Given the description of an element on the screen output the (x, y) to click on. 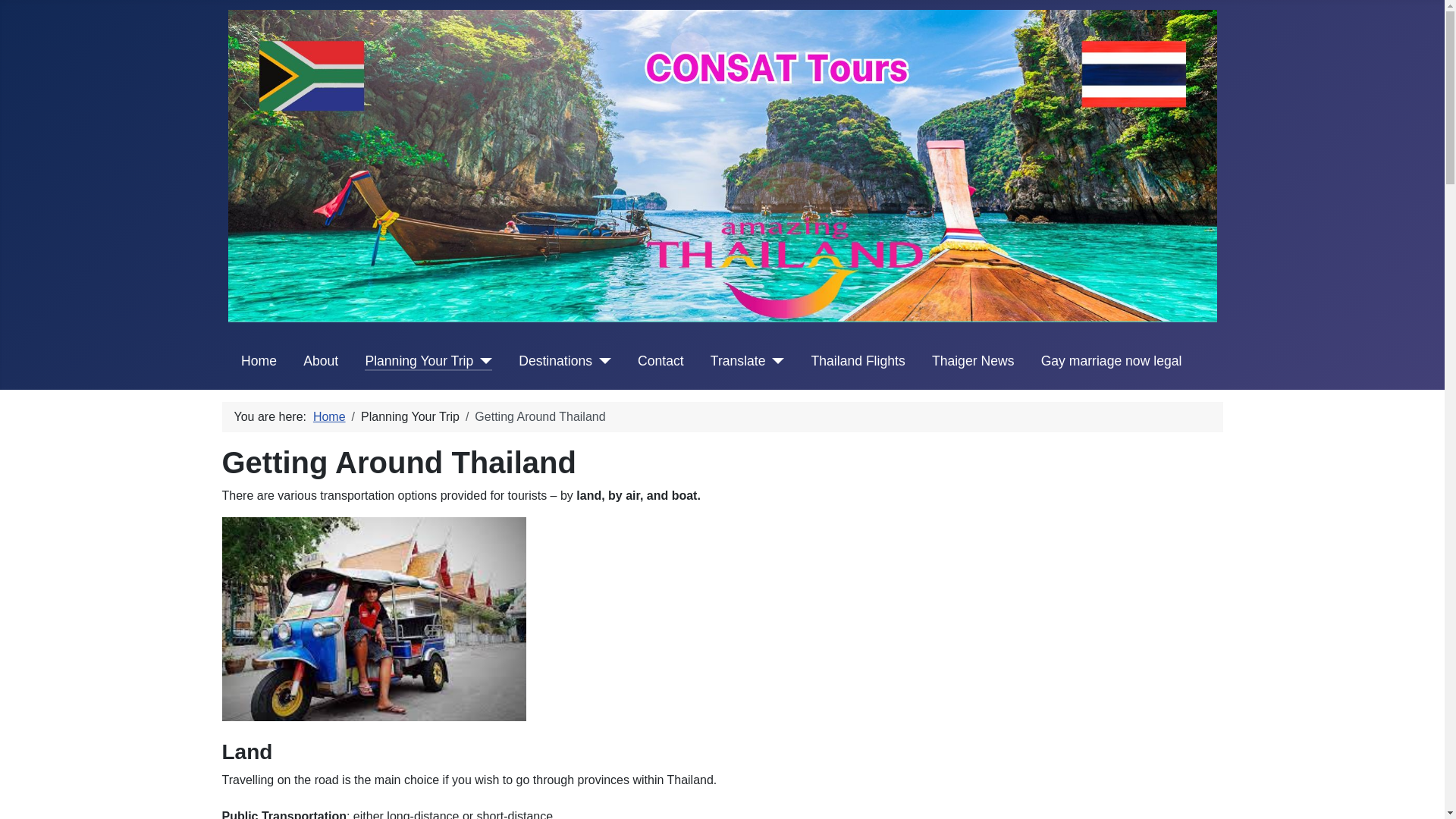
Home (329, 416)
About (319, 361)
Planning Your Trip (428, 361)
Thaiger News (972, 361)
Contact (660, 361)
Home (258, 361)
Thailand Flights (857, 361)
Gay marriage now legal (1111, 361)
Destinations (564, 361)
Translate (747, 361)
